Given the description of an element on the screen output the (x, y) to click on. 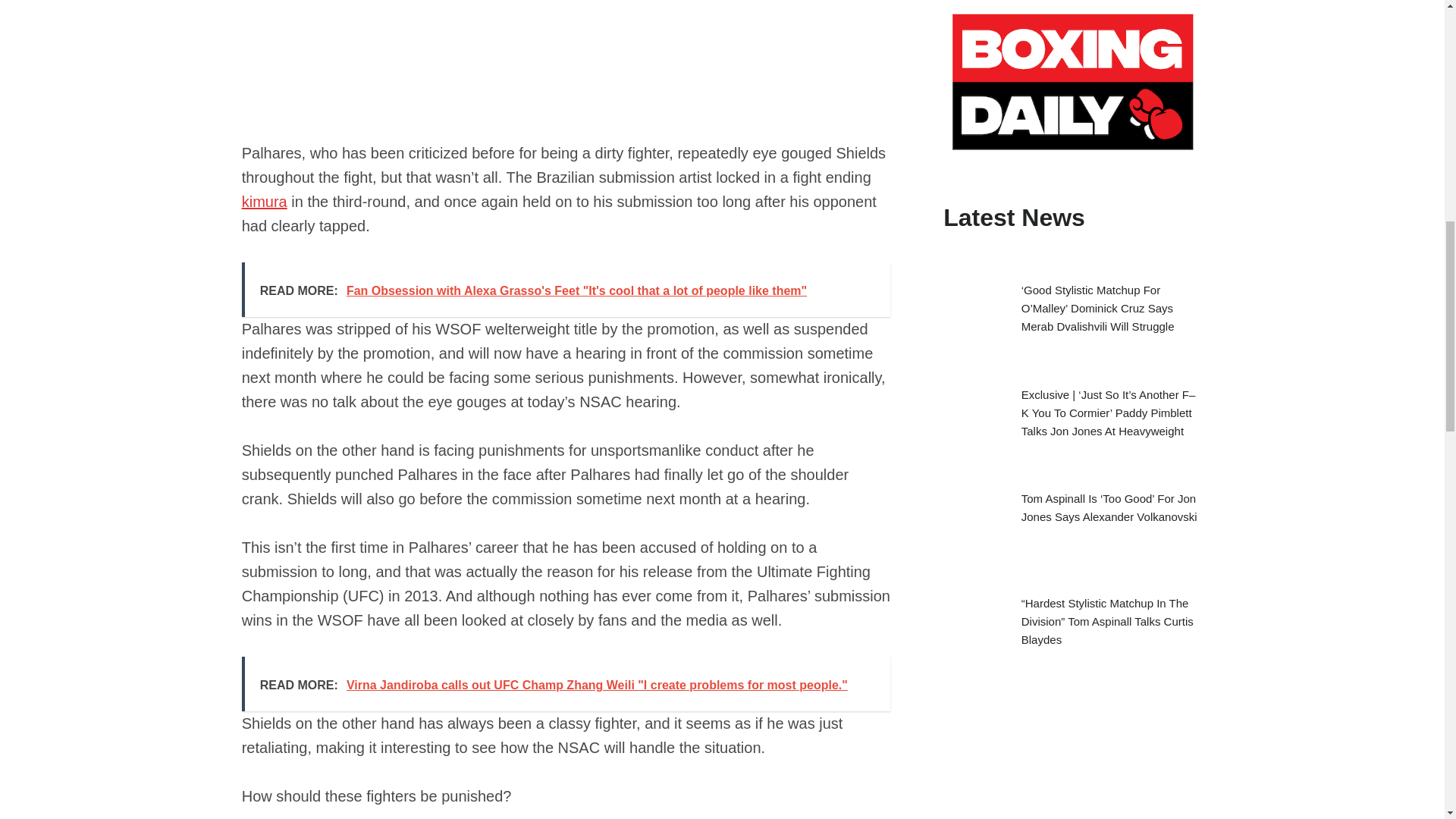
kimura (263, 201)
